Given the description of an element on the screen output the (x, y) to click on. 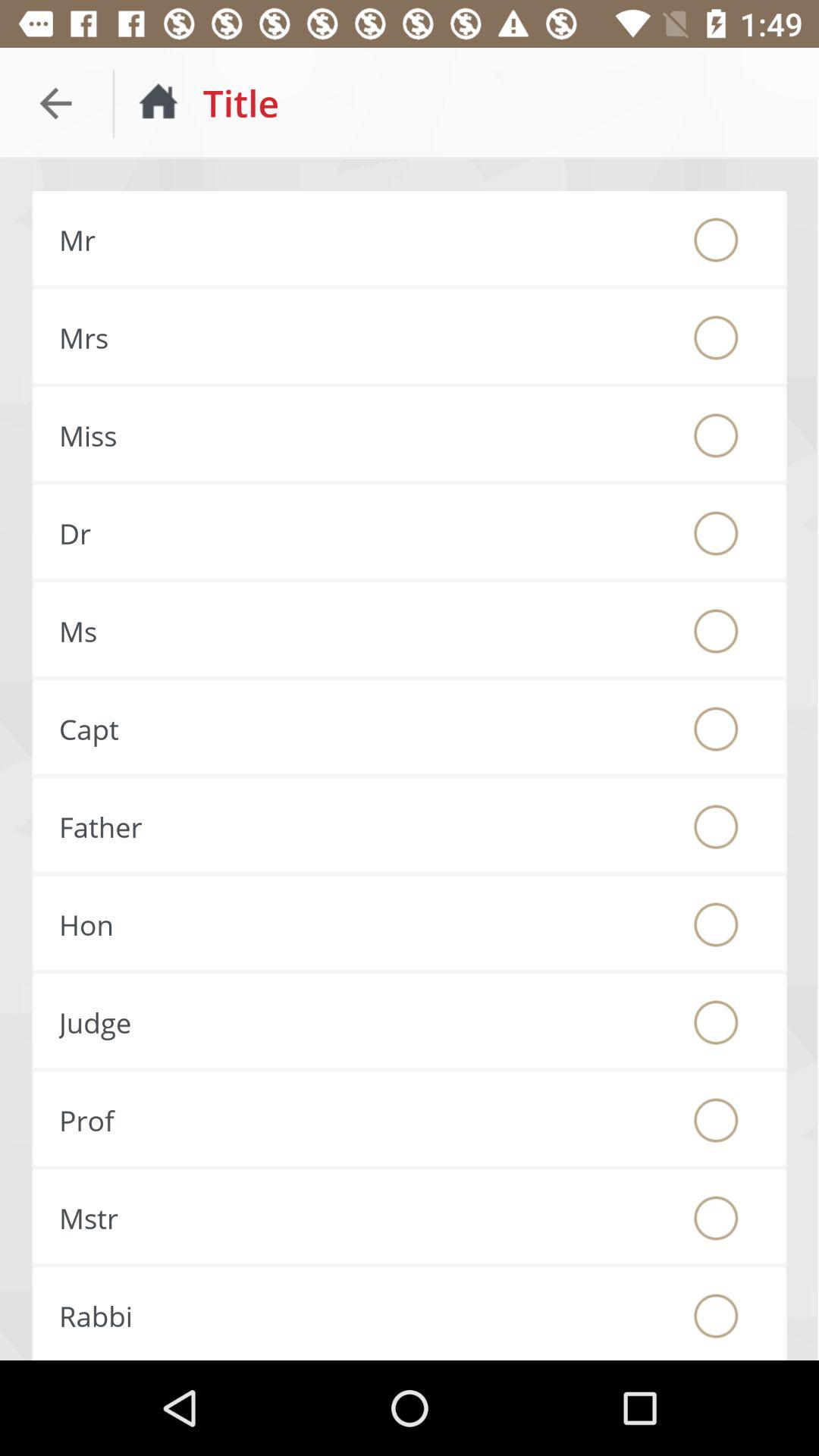
select dr title (715, 533)
